Given the description of an element on the screen output the (x, y) to click on. 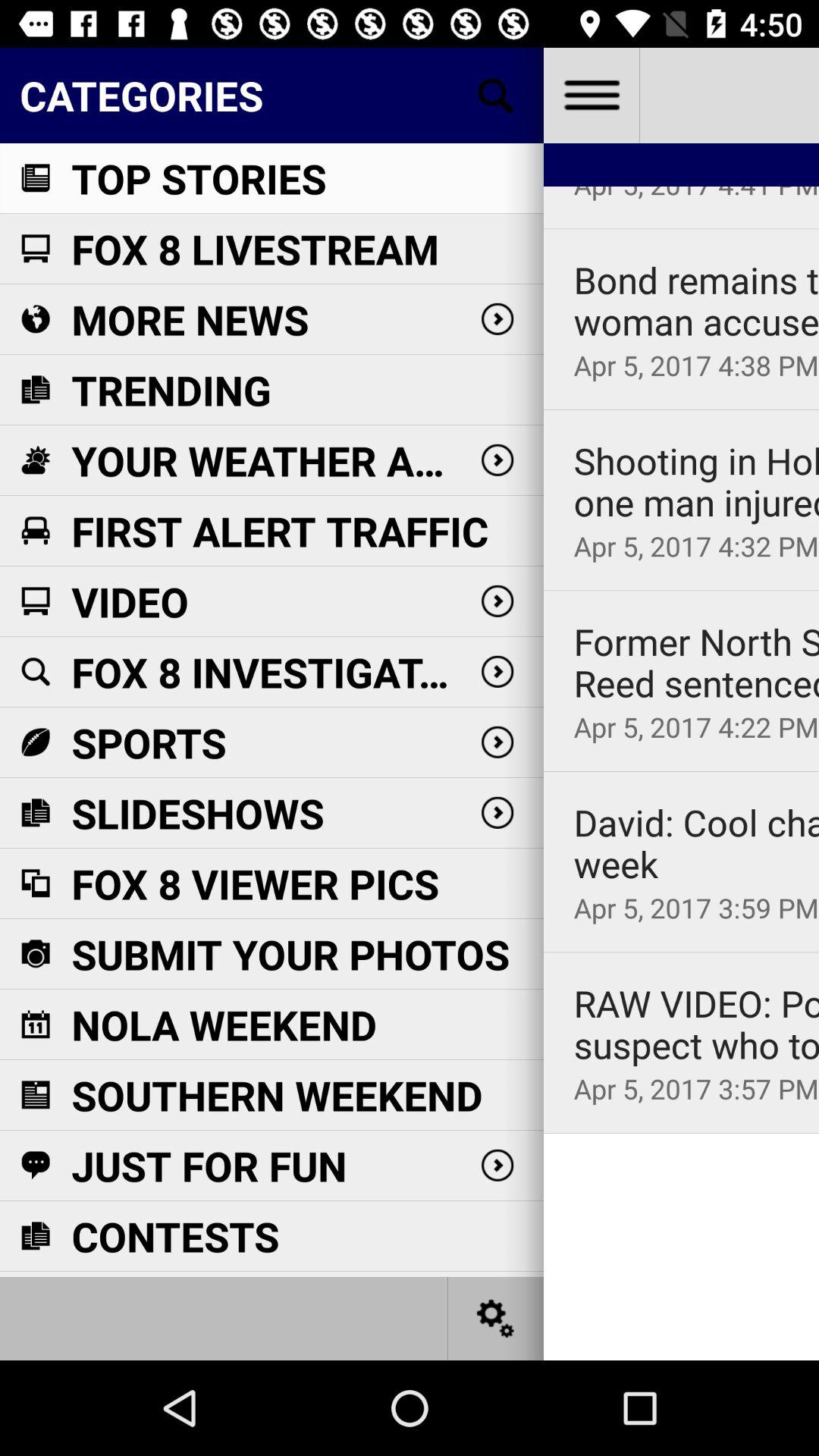
open menu (591, 95)
